Given the description of an element on the screen output the (x, y) to click on. 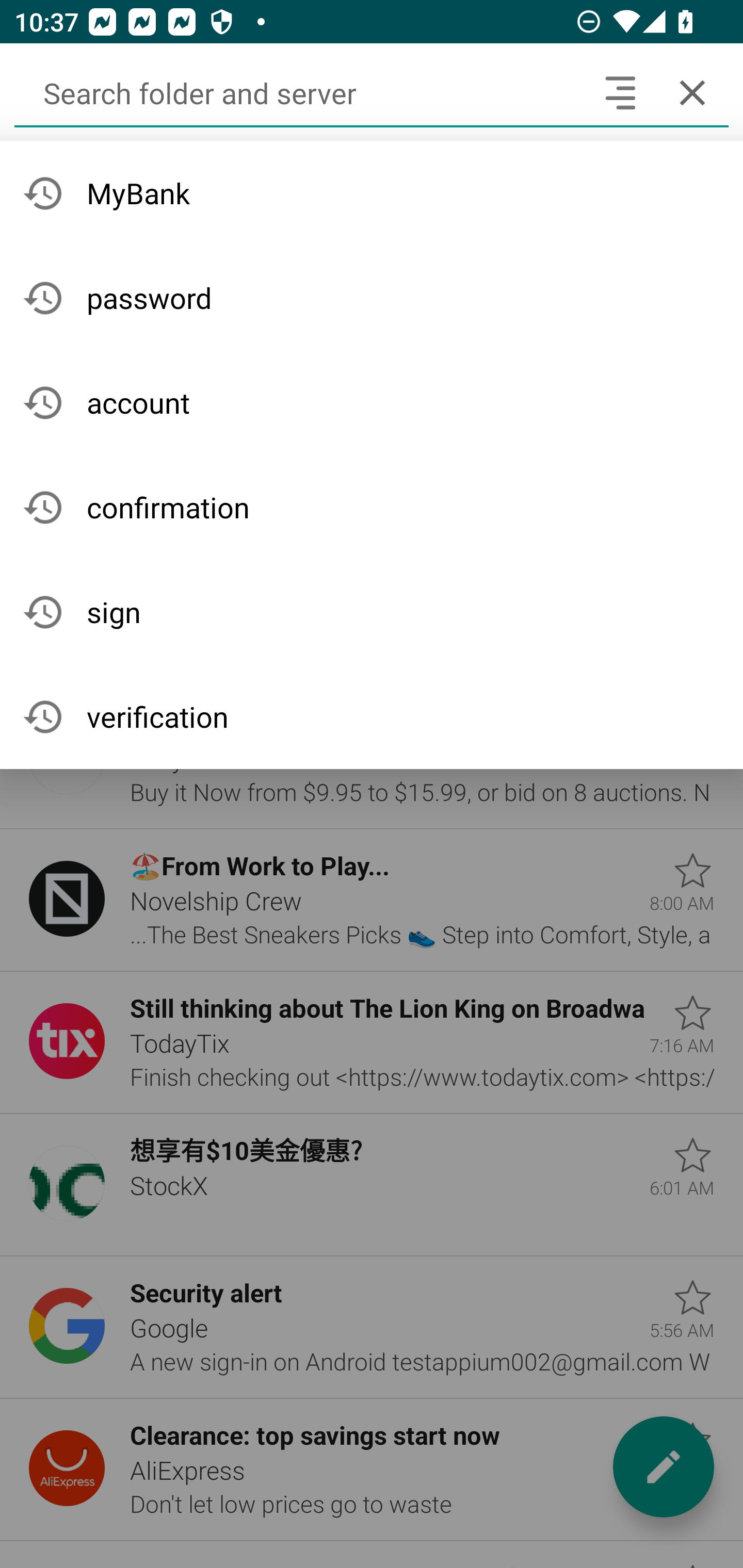
   Search folder and server (298, 92)
Search headers and text (619, 92)
Cancel (692, 92)
